Given the description of an element on the screen output the (x, y) to click on. 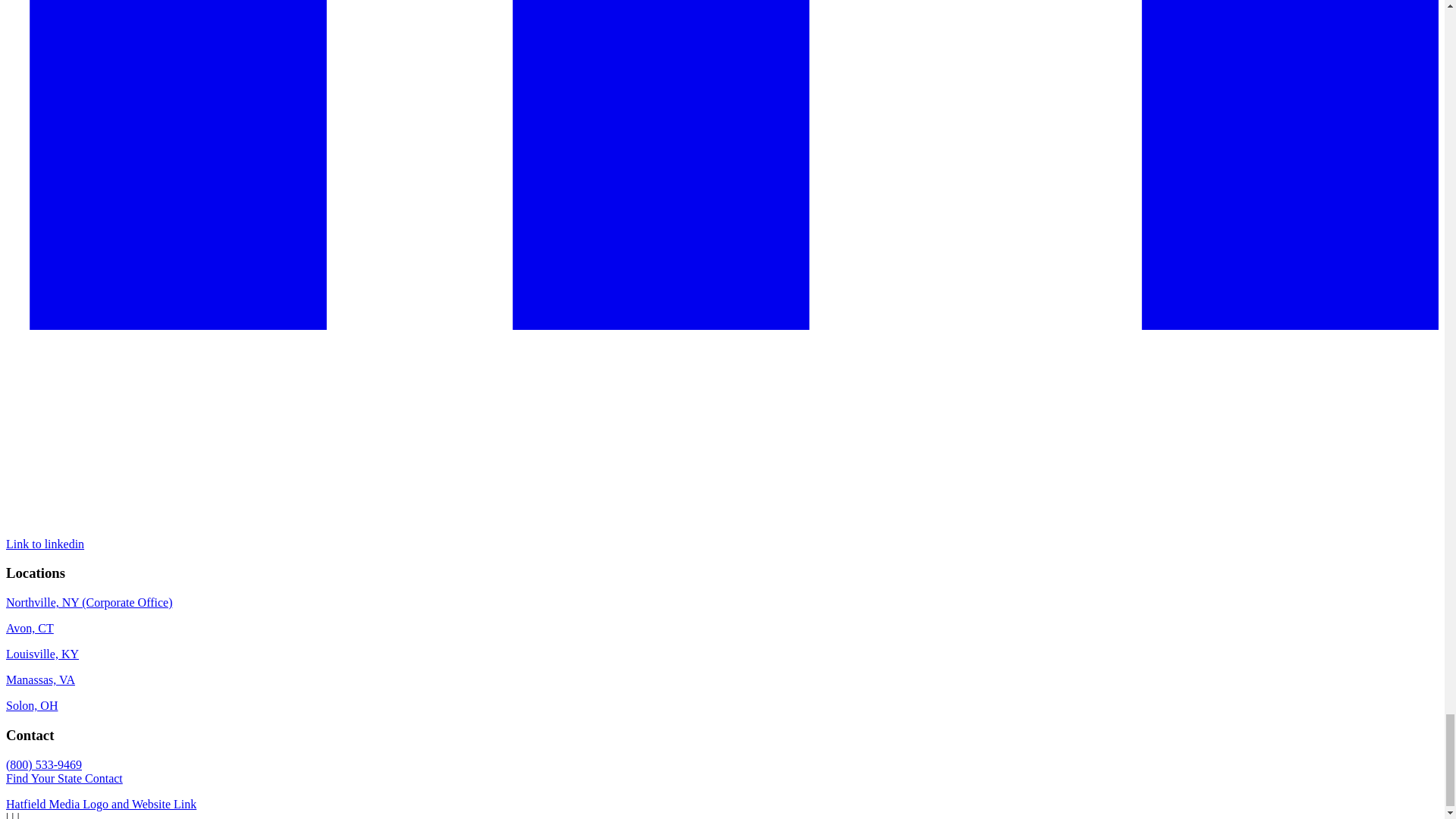
Avon, CT (29, 627)
Find Your State Contact (63, 778)
Manassas, VA (40, 679)
Louisville, KY (41, 653)
Solon, OH (31, 705)
